Given the description of an element on the screen output the (x, y) to click on. 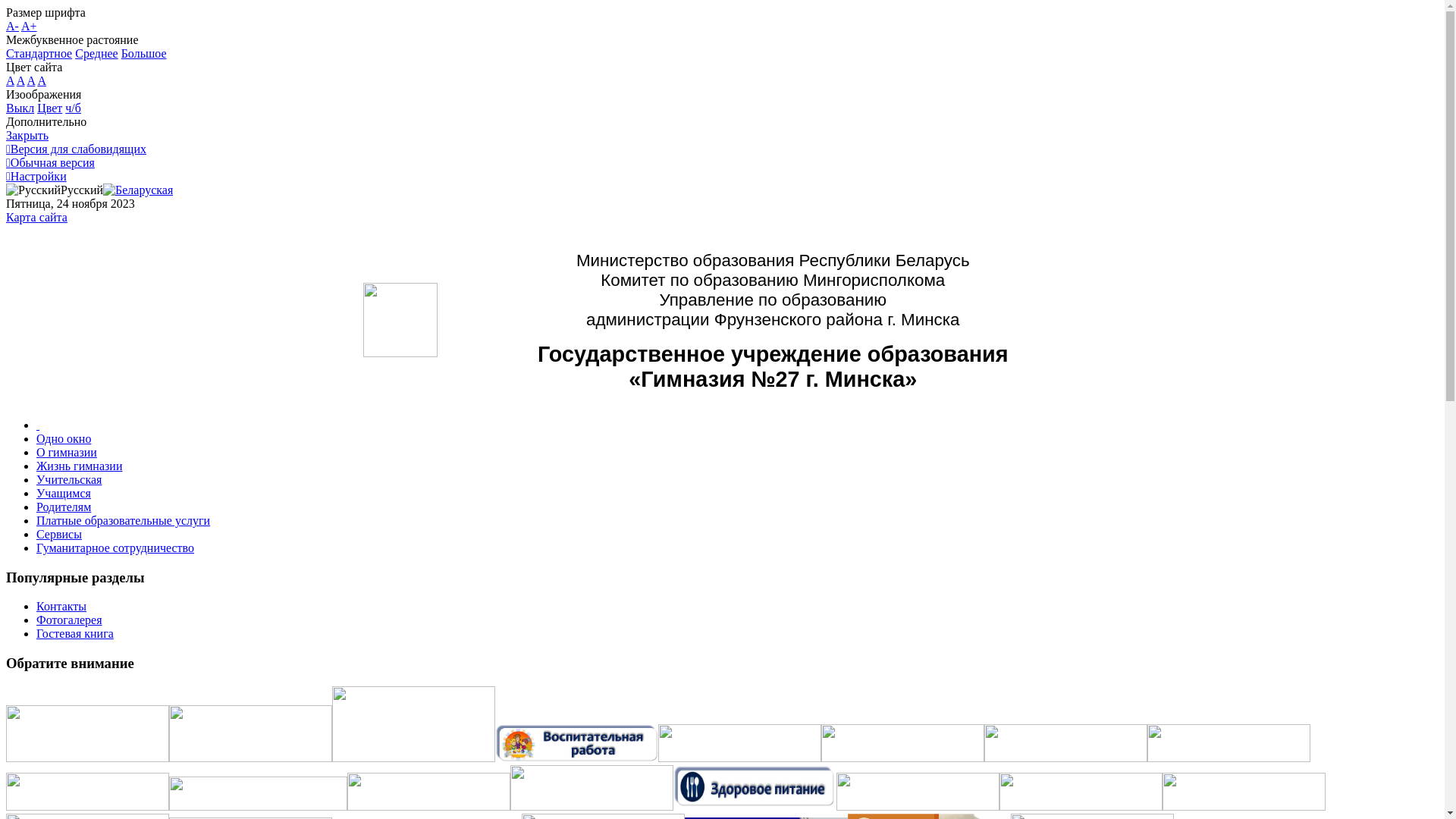
A Element type: text (41, 80)
A Element type: text (20, 80)
A+ Element type: text (29, 25)
A- Element type: text (12, 25)
  Element type: text (37, 424)
A Element type: text (10, 80)
A Element type: text (31, 80)
